Given the description of an element on the screen output the (x, y) to click on. 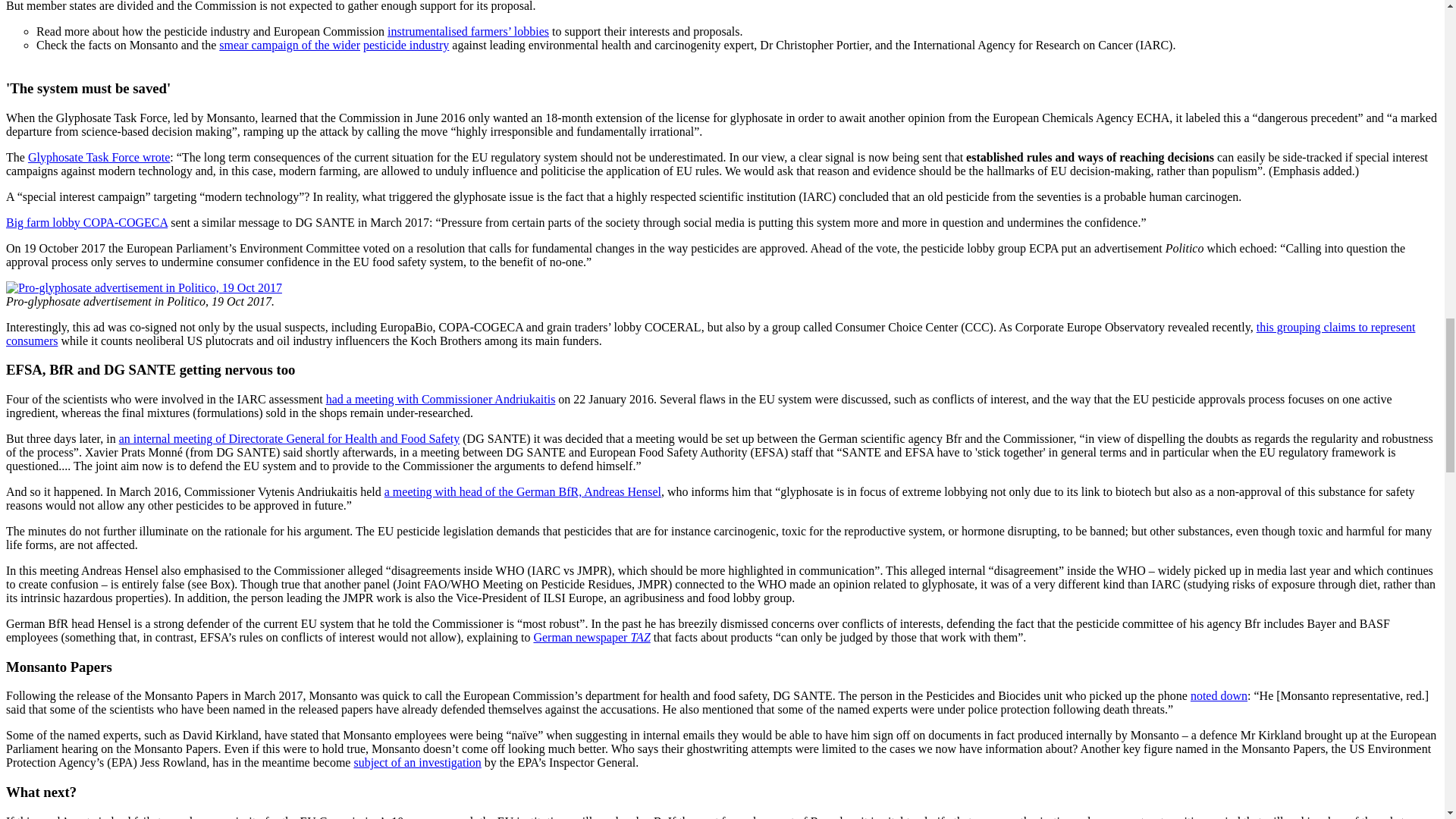
Pro-glyphosate advertisement in Politico, 19 Oct 2017 (143, 286)
